Given the description of an element on the screen output the (x, y) to click on. 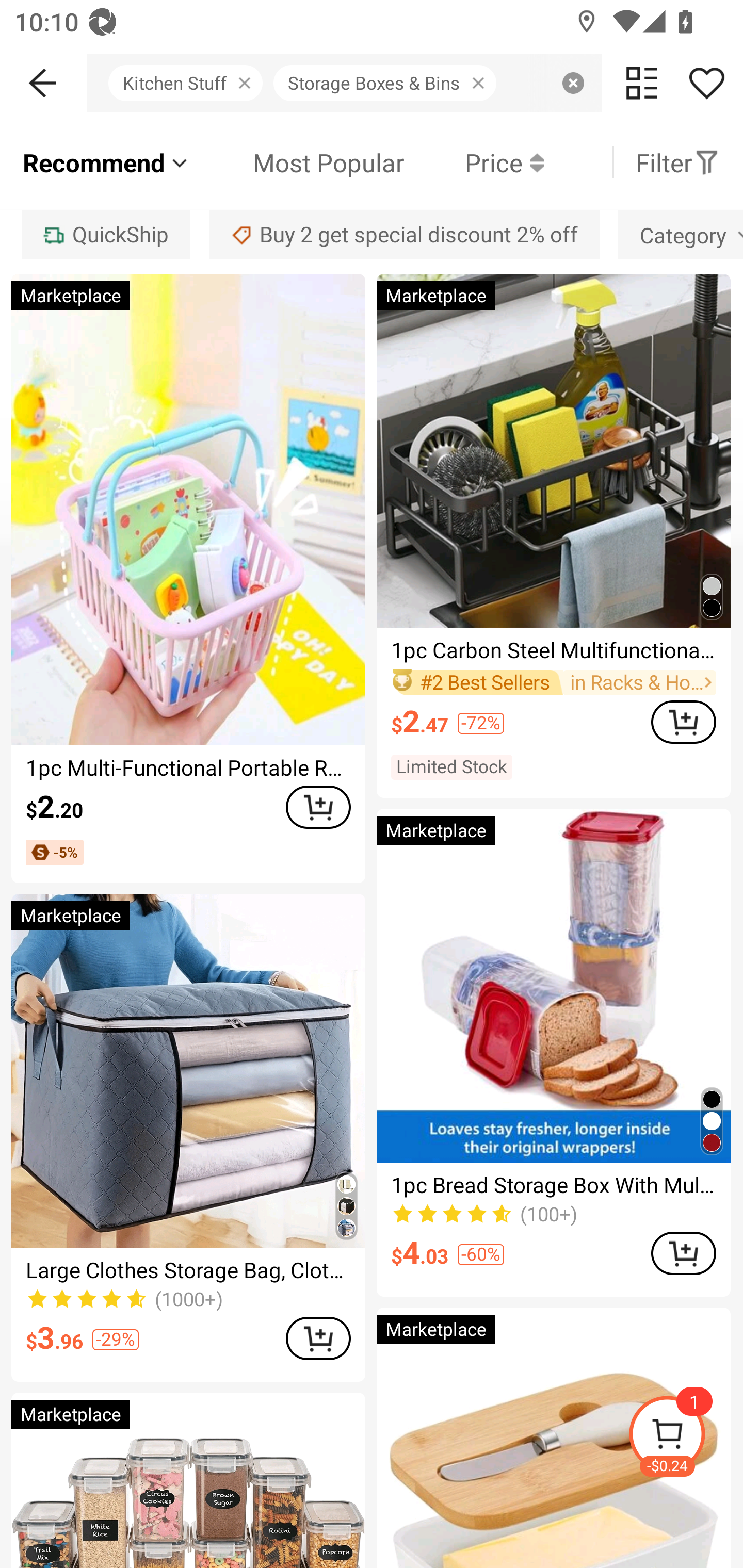
Kitchen Stuff (190, 82)
Storage Boxes & Bins (390, 82)
Clear (572, 82)
change view (641, 82)
Share (706, 82)
Recommend (106, 162)
Most Popular (297, 162)
Price (474, 162)
Filter (677, 162)
QuickShip (105, 234)
Buy 2 get special discount 2% off (403, 234)
Category (680, 234)
#2 Best Sellers in Racks & Holders (553, 681)
ADD TO CART (683, 721)
ADD TO CART (318, 807)
ADD TO CART (683, 1253)
ADD TO CART (318, 1338)
-$0.24 (685, 1436)
